Given the description of an element on the screen output the (x, y) to click on. 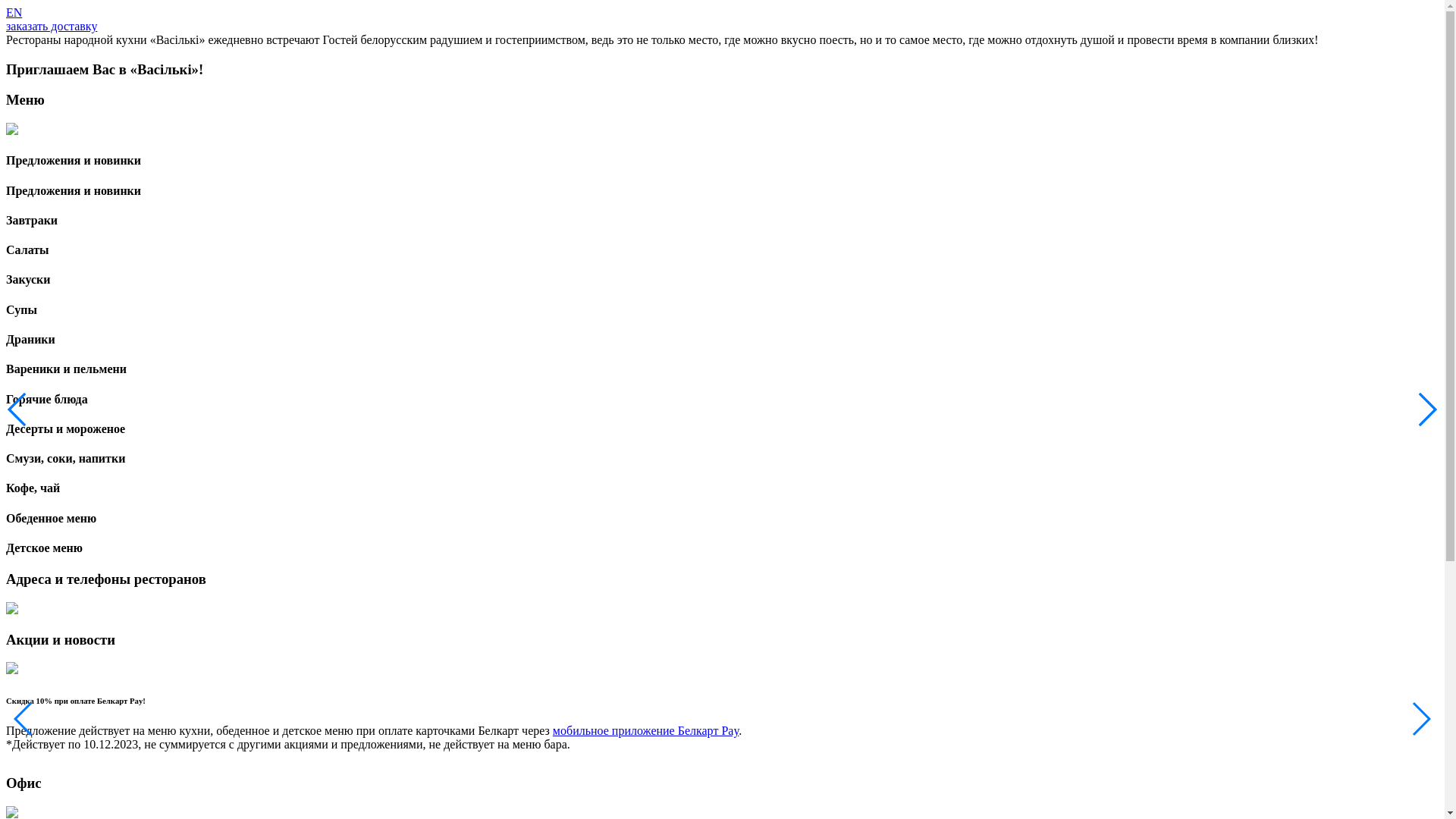
EN Element type: text (13, 12)
